Given the description of an element on the screen output the (x, y) to click on. 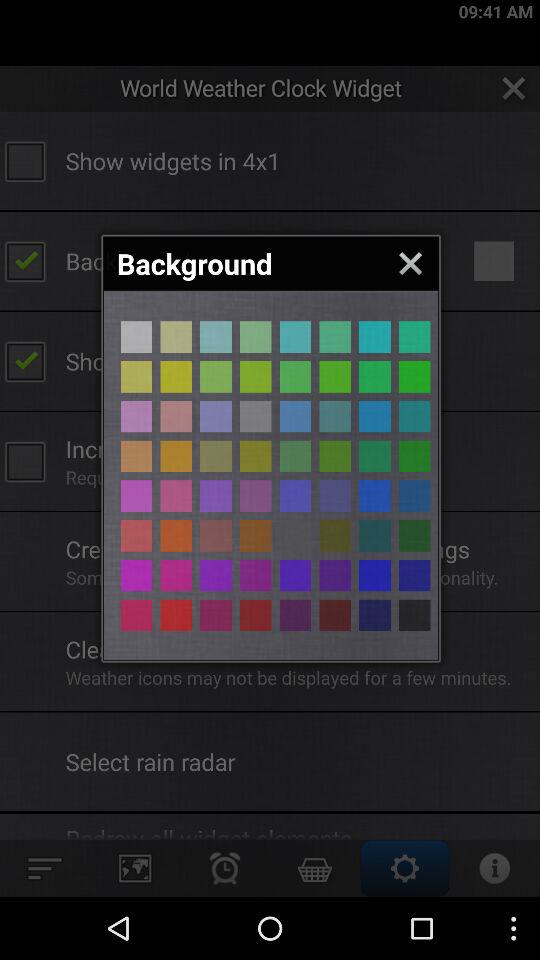
set background to color (335, 575)
